Given the description of an element on the screen output the (x, y) to click on. 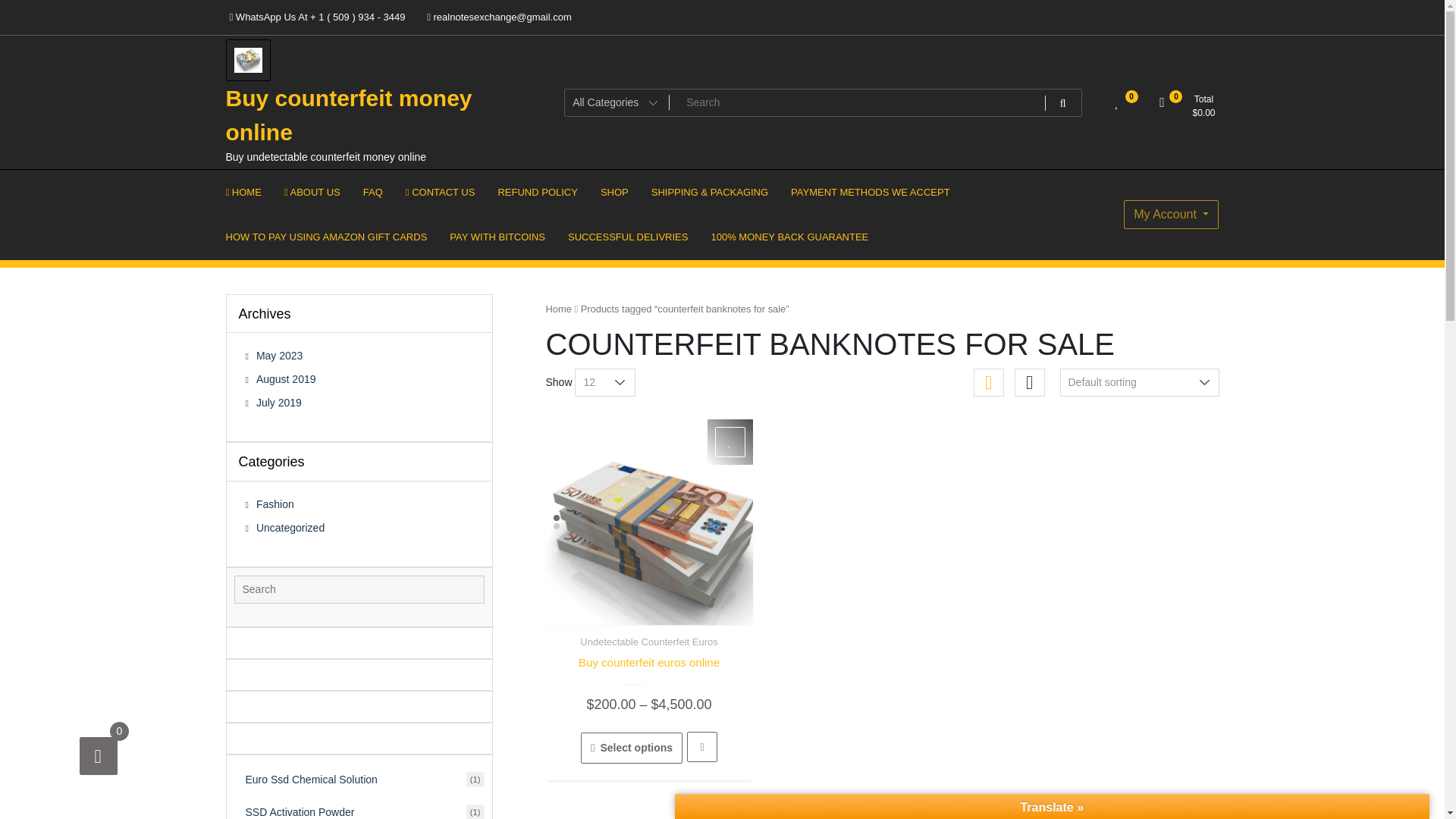
Undetectable Counterfeit Euros (648, 641)
ABOUT US (312, 191)
CONTACT US (440, 191)
Fashion (270, 503)
REFUND POLICY (537, 191)
My Account (1171, 214)
PAYMENT METHODS WE ACCEPT (869, 191)
Select options (631, 747)
FAQ (373, 191)
Search for: (357, 589)
